Given the description of an element on the screen output the (x, y) to click on. 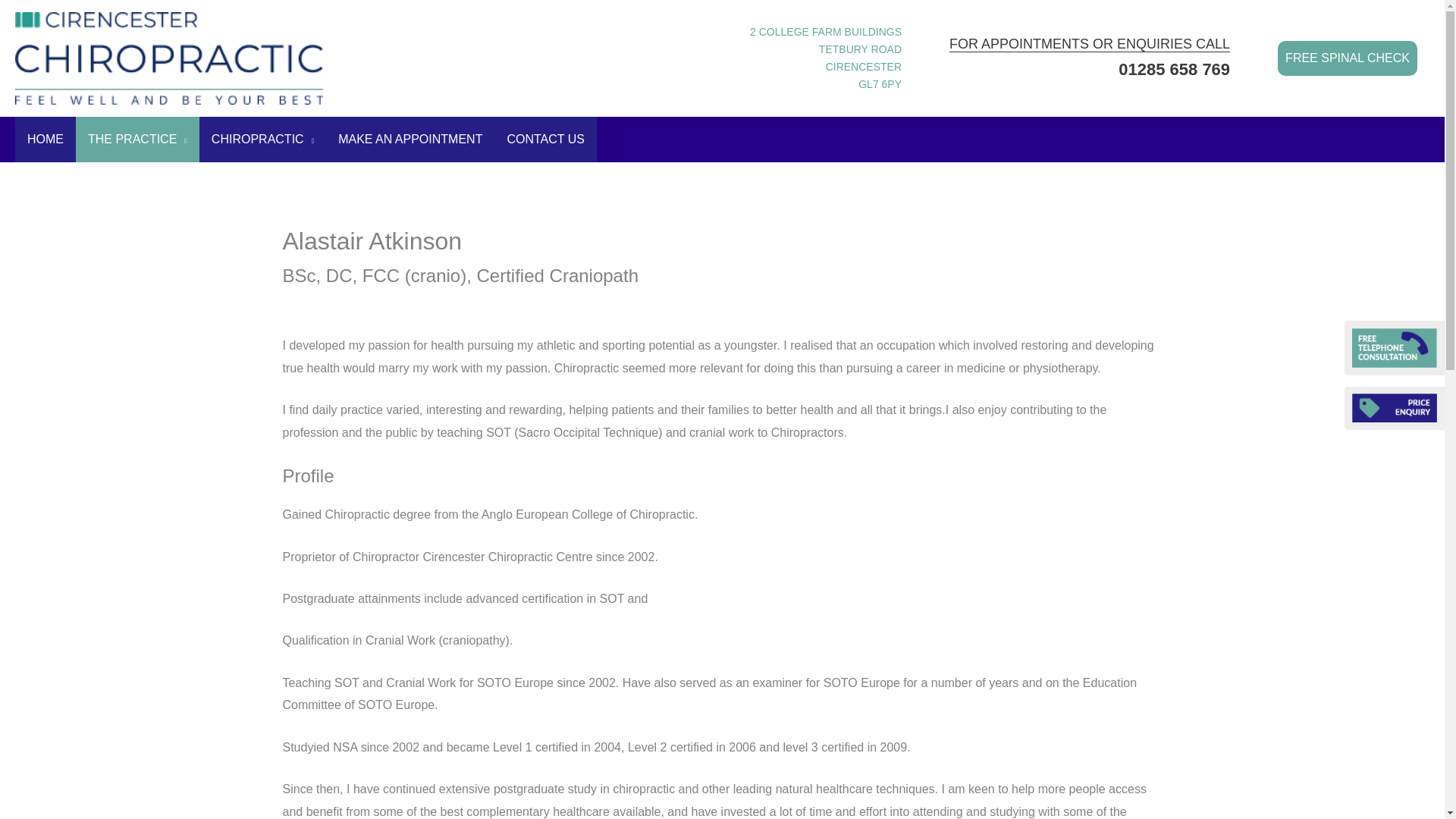
MAKE AN APPOINTMENT (410, 139)
THE PRACTICE (137, 139)
FREE SPINAL CHECK (1347, 57)
CONTACT US (545, 139)
CHIROPRACTIC (262, 139)
HOME (825, 57)
